Given the description of an element on the screen output the (x, y) to click on. 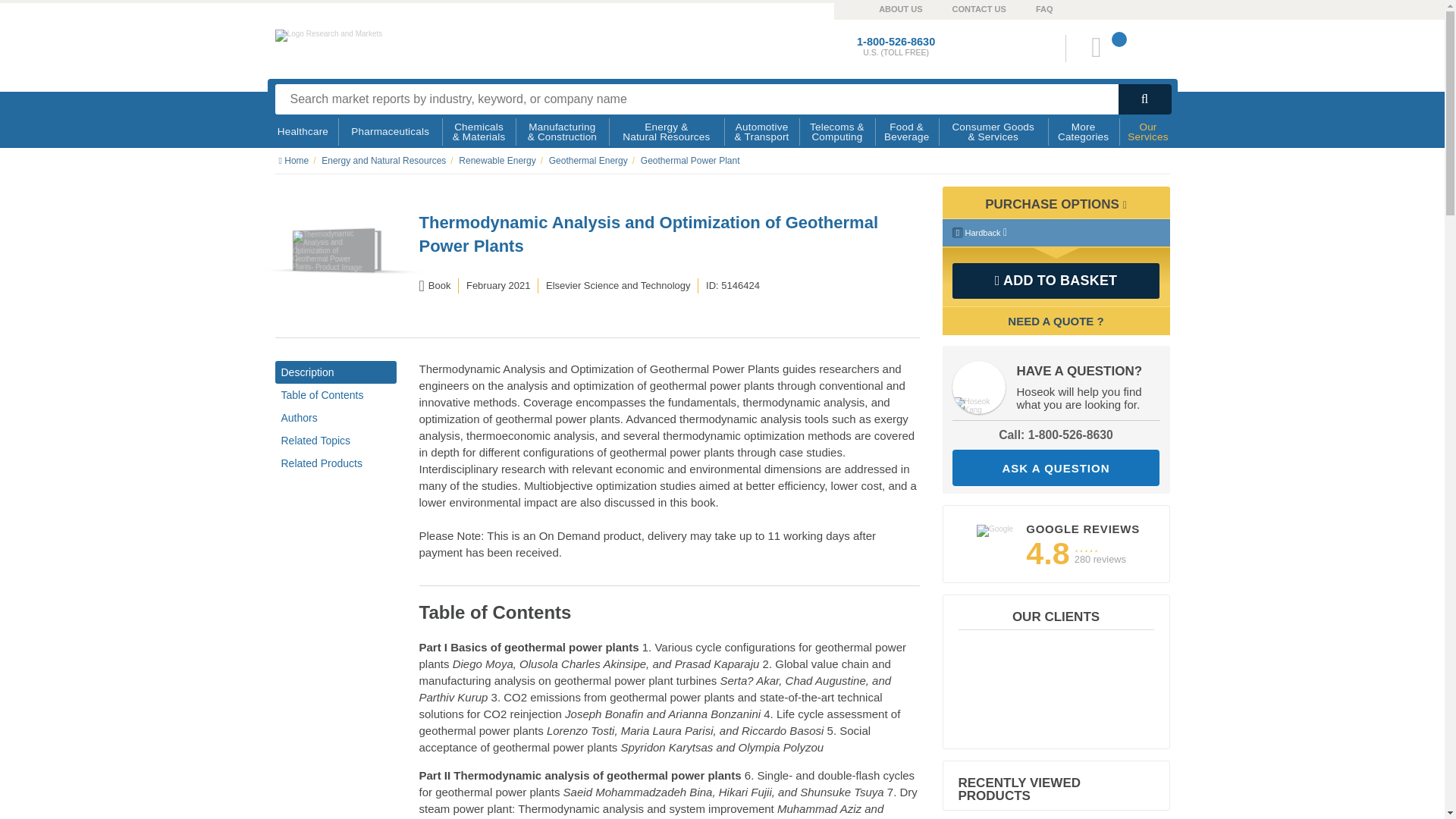
Healthcare (302, 132)
Generate a pdf quotation and order form (1055, 320)
ABOUT US (884, 8)
CONTACT US (964, 8)
FAQ (1029, 8)
1-800-526-8630 (895, 41)
